Given the description of an element on the screen output the (x, y) to click on. 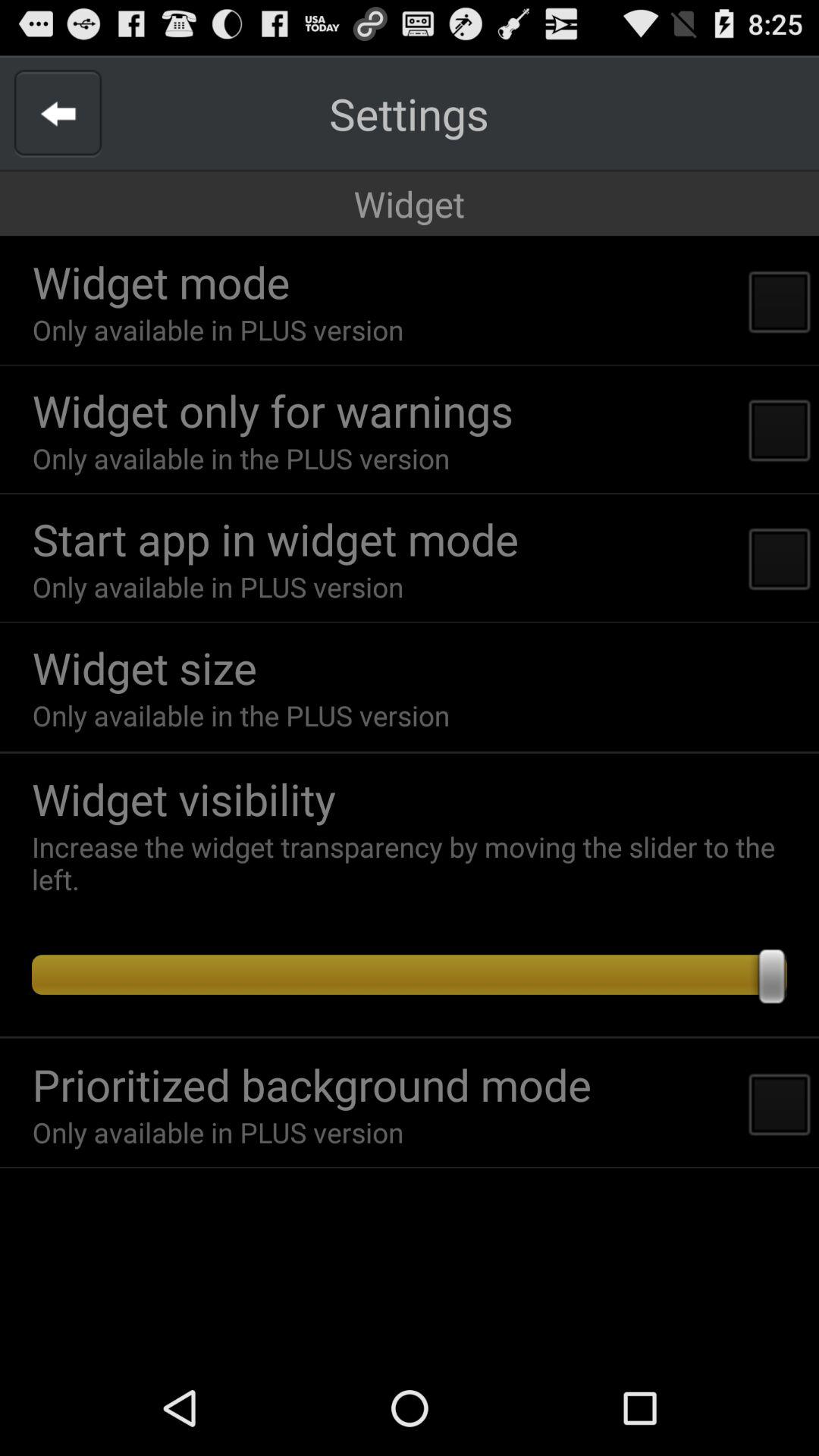
click the item above only available in (144, 667)
